Given the description of an element on the screen output the (x, y) to click on. 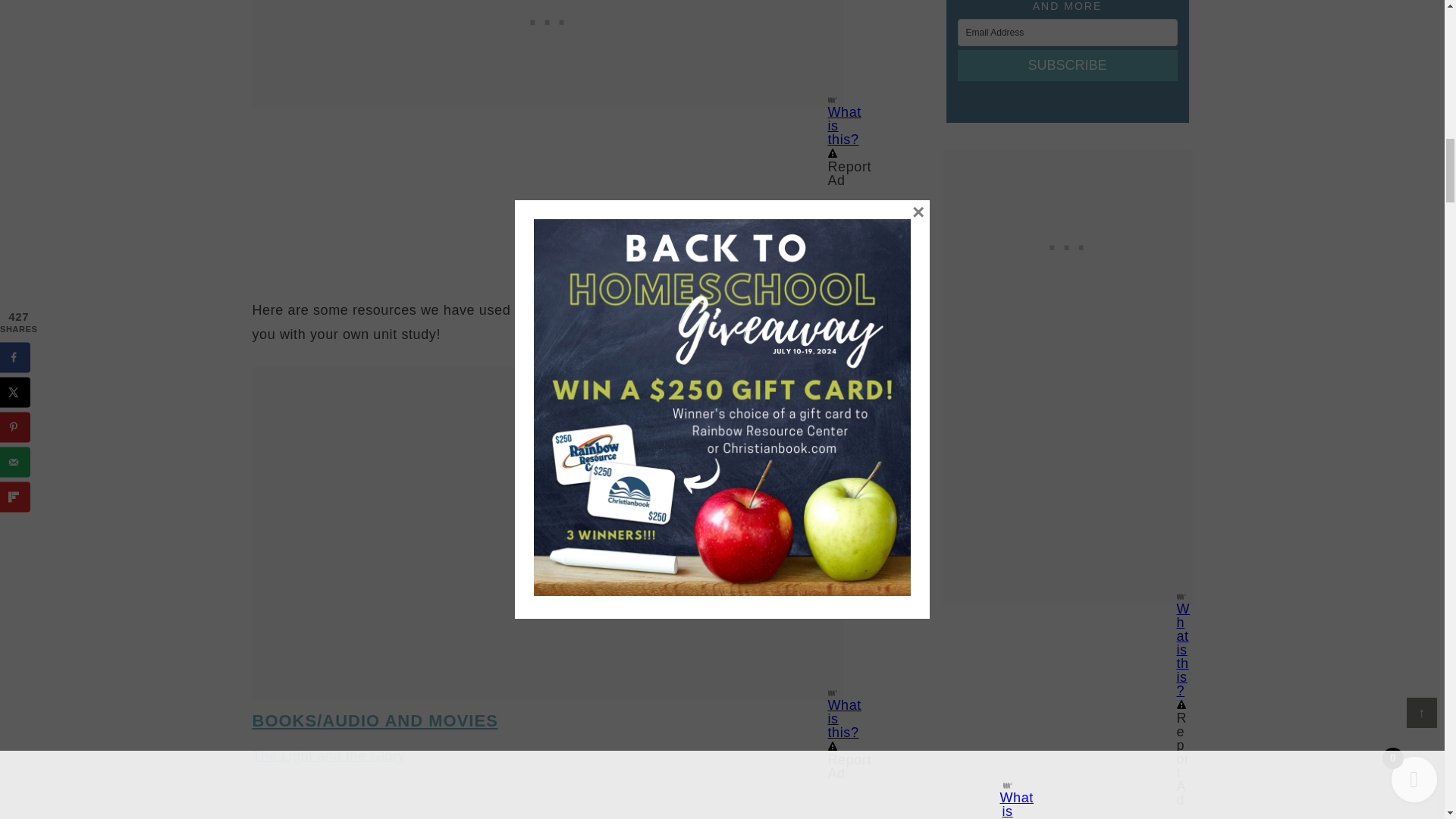
3rd party ad content (547, 400)
